Given the description of an element on the screen output the (x, y) to click on. 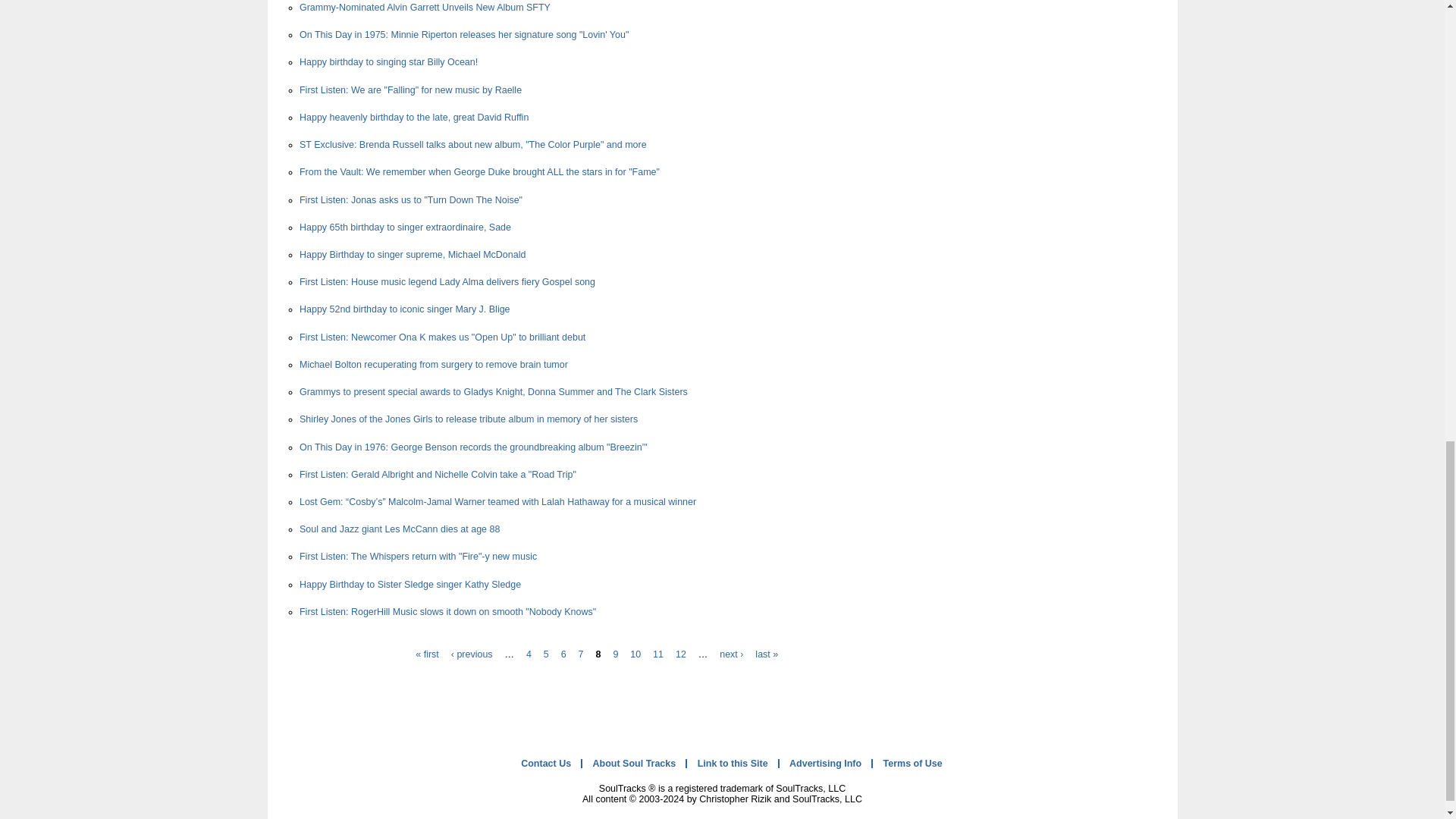
Go to first page (426, 654)
Go to previous page (472, 654)
